Given the description of an element on the screen output the (x, y) to click on. 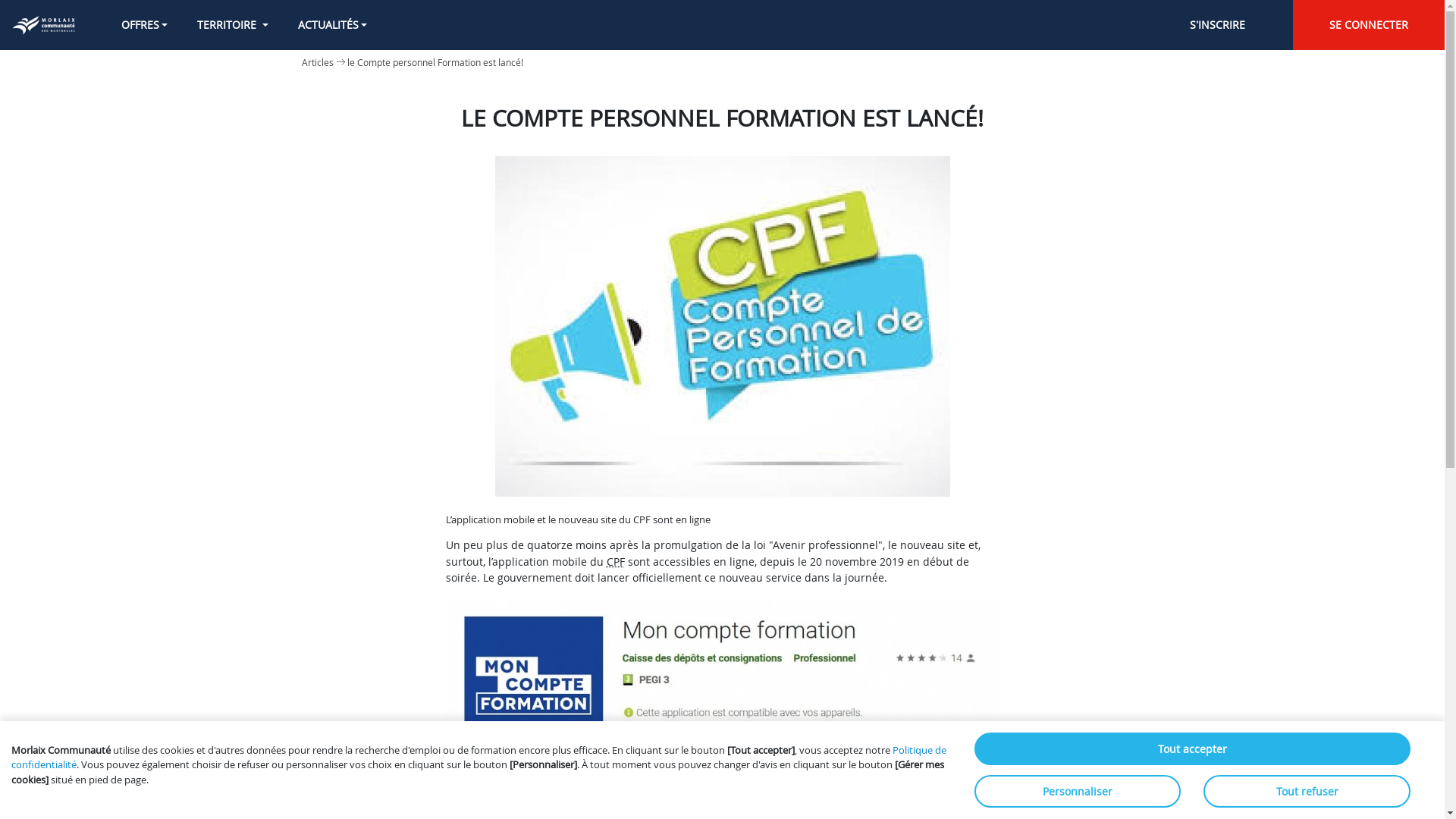
S'INSCRIRE Element type: text (1216, 25)
Personnaliser Element type: text (1077, 791)
OFFRES Element type: text (144, 24)
TERRITOIRE Element type: text (232, 24)
Tout refuser Element type: text (1306, 791)
Tout accepter Element type: text (1192, 748)
SE CONNECTER Element type: text (1368, 25)
Articles Element type: text (317, 62)
